Given the description of an element on the screen output the (x, y) to click on. 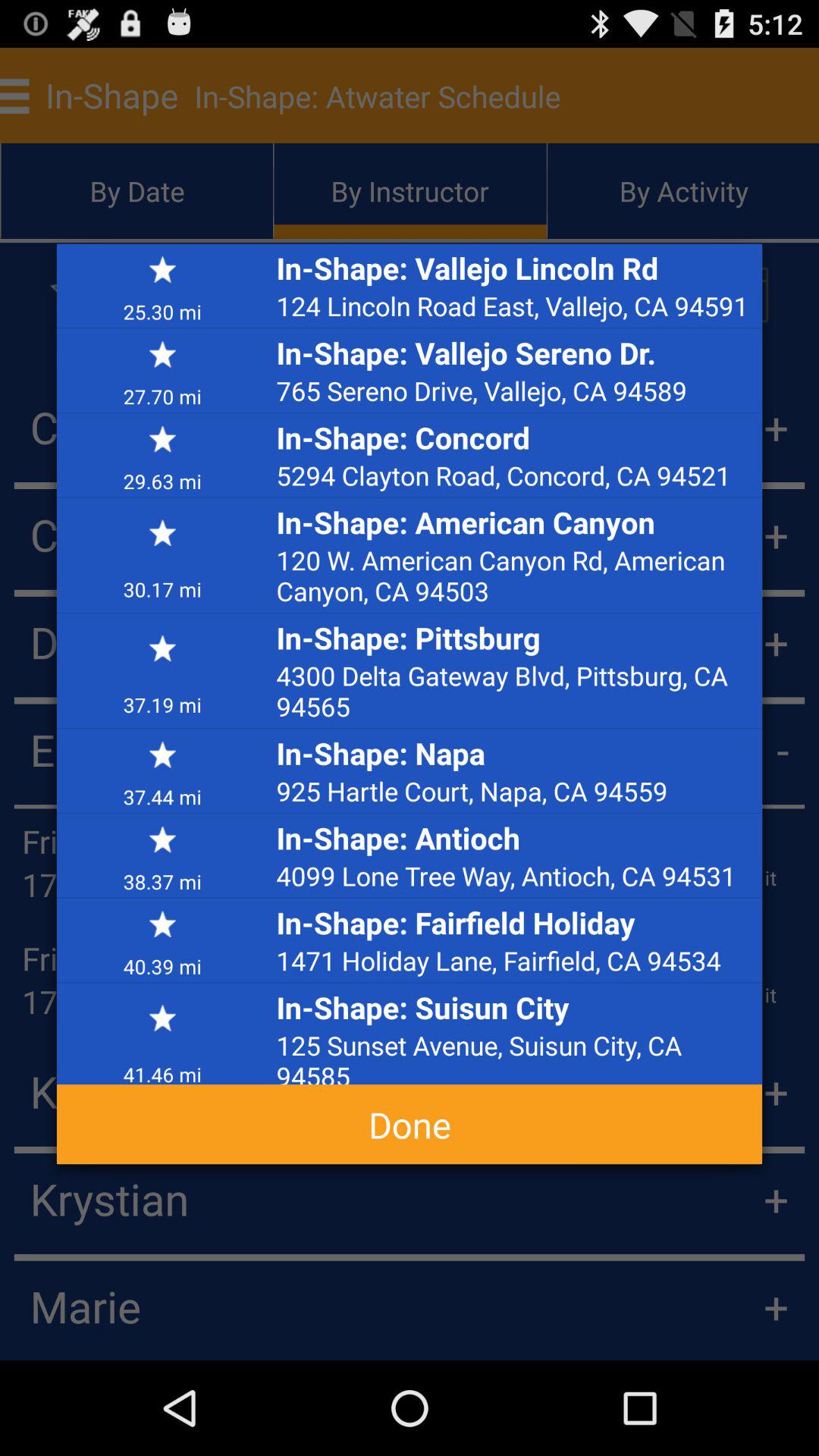
open 29.63 mi app (162, 480)
